Given the description of an element on the screen output the (x, y) to click on. 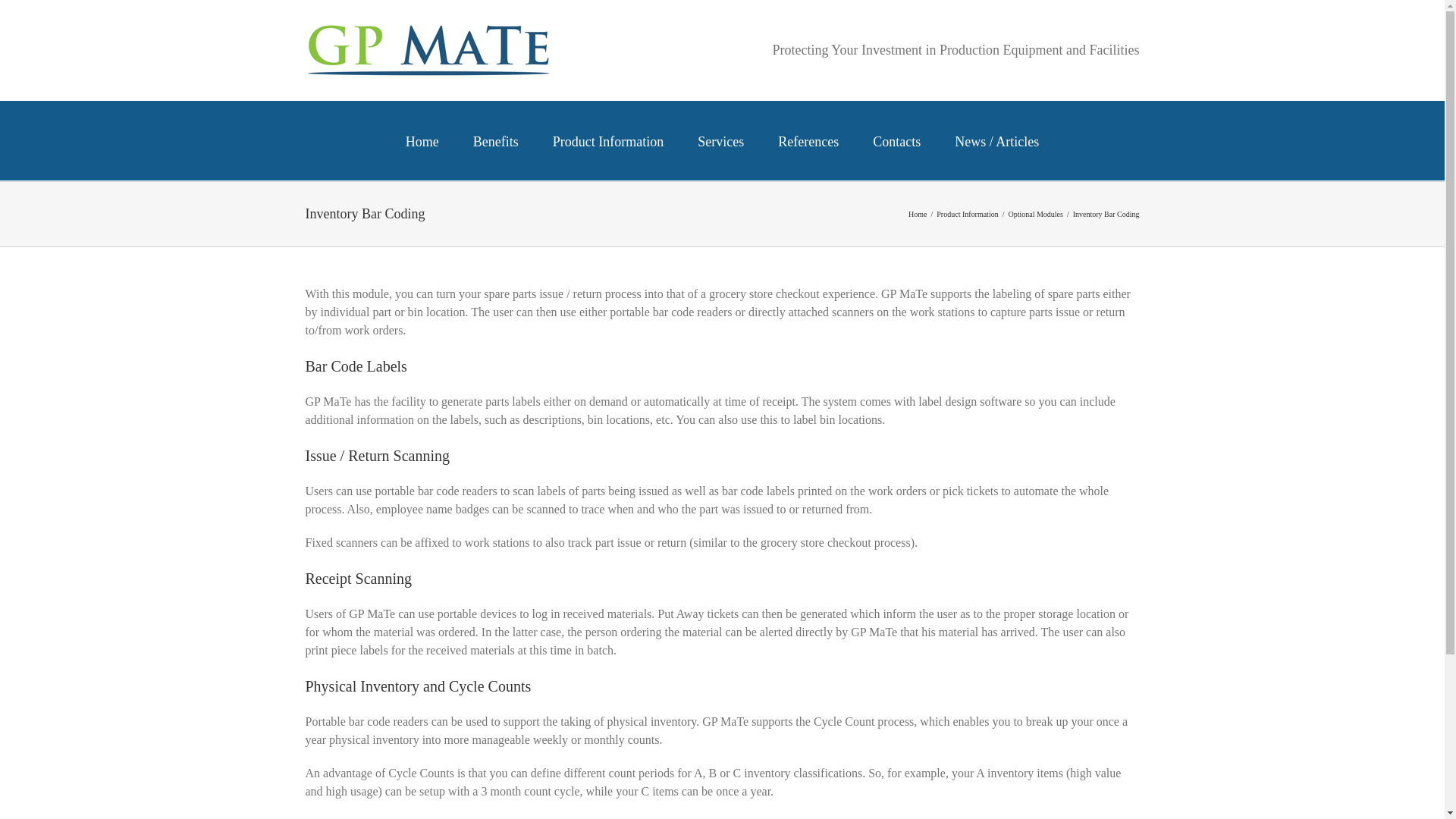
Product Information (608, 140)
